Given the description of an element on the screen output the (x, y) to click on. 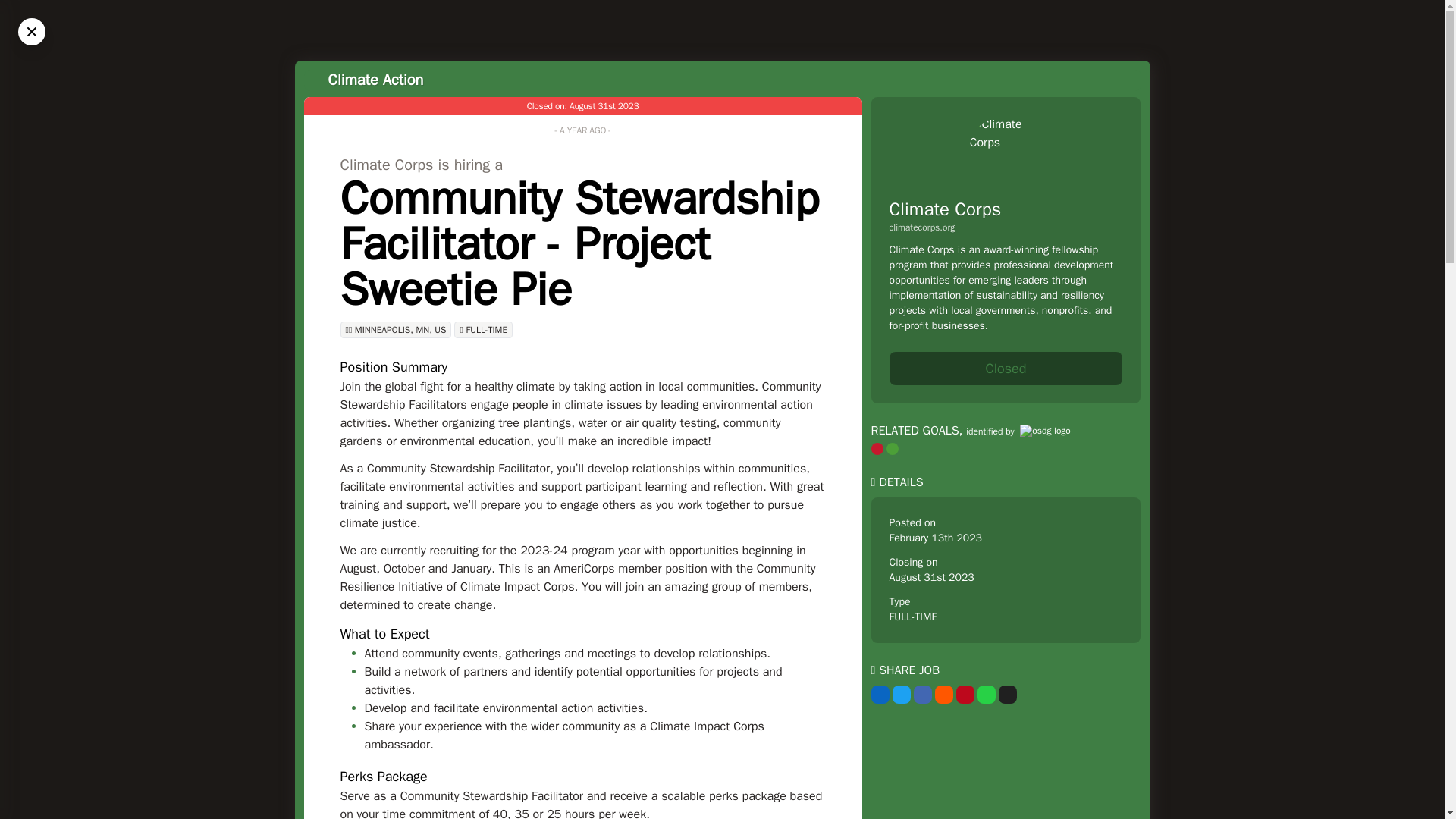
Climate Corps (944, 209)
Quality Education sustainability jobs (876, 449)
share on twitter (900, 694)
share with email (1006, 694)
share with whatsapp (985, 694)
Good Health and Well-being sustainability jobs (891, 449)
share on reddit (943, 694)
share on pinterest (964, 694)
share on facebook (921, 694)
climatecorps.org (1005, 227)
share on linkedin (879, 694)
Climate Action (375, 79)
Closed (1005, 368)
